Given the description of an element on the screen output the (x, y) to click on. 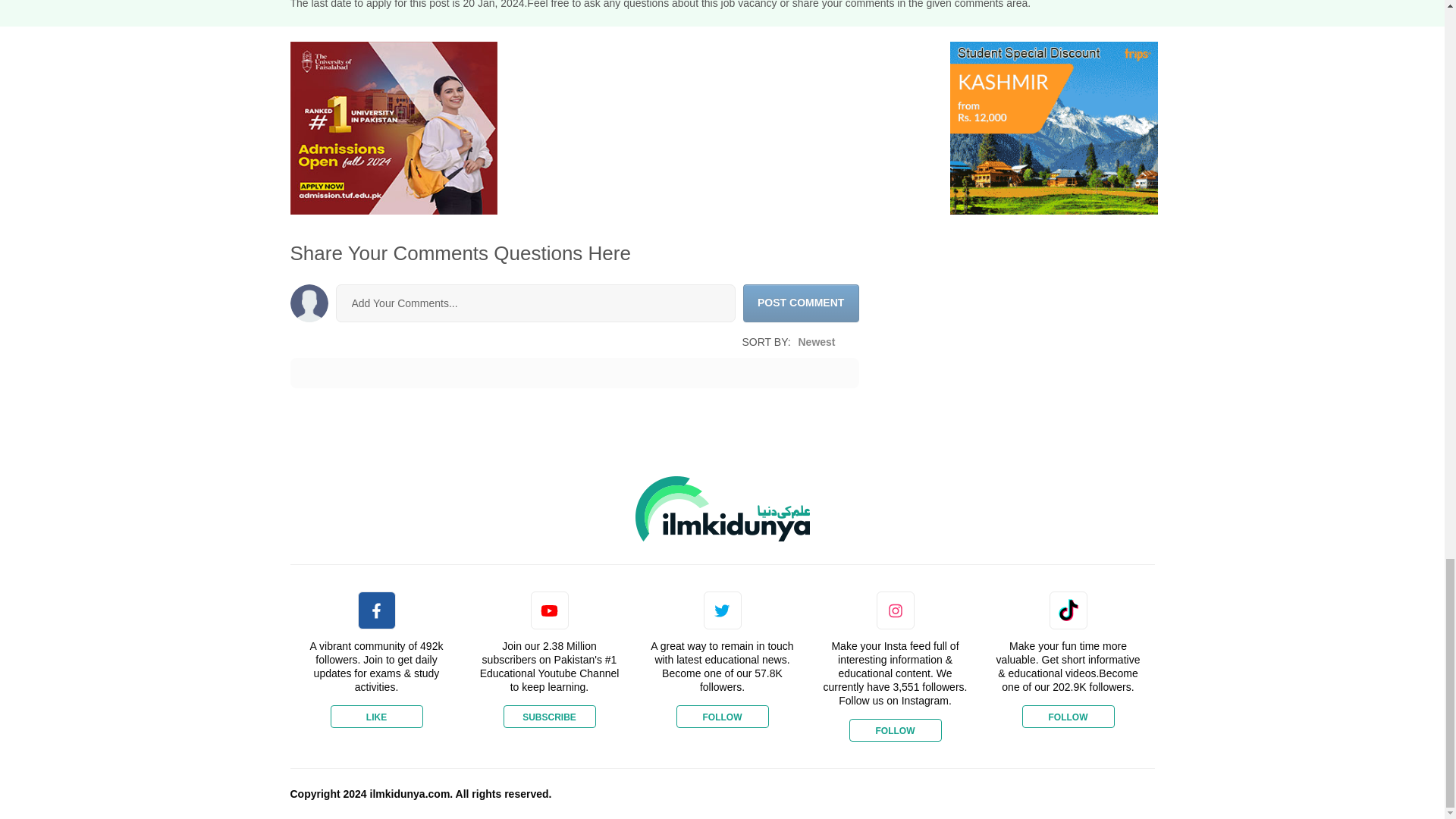
SUBSCRIBE (549, 716)
LIKE (376, 716)
POST COMMENT (800, 303)
FOLLOW (722, 716)
